Given the description of an element on the screen output the (x, y) to click on. 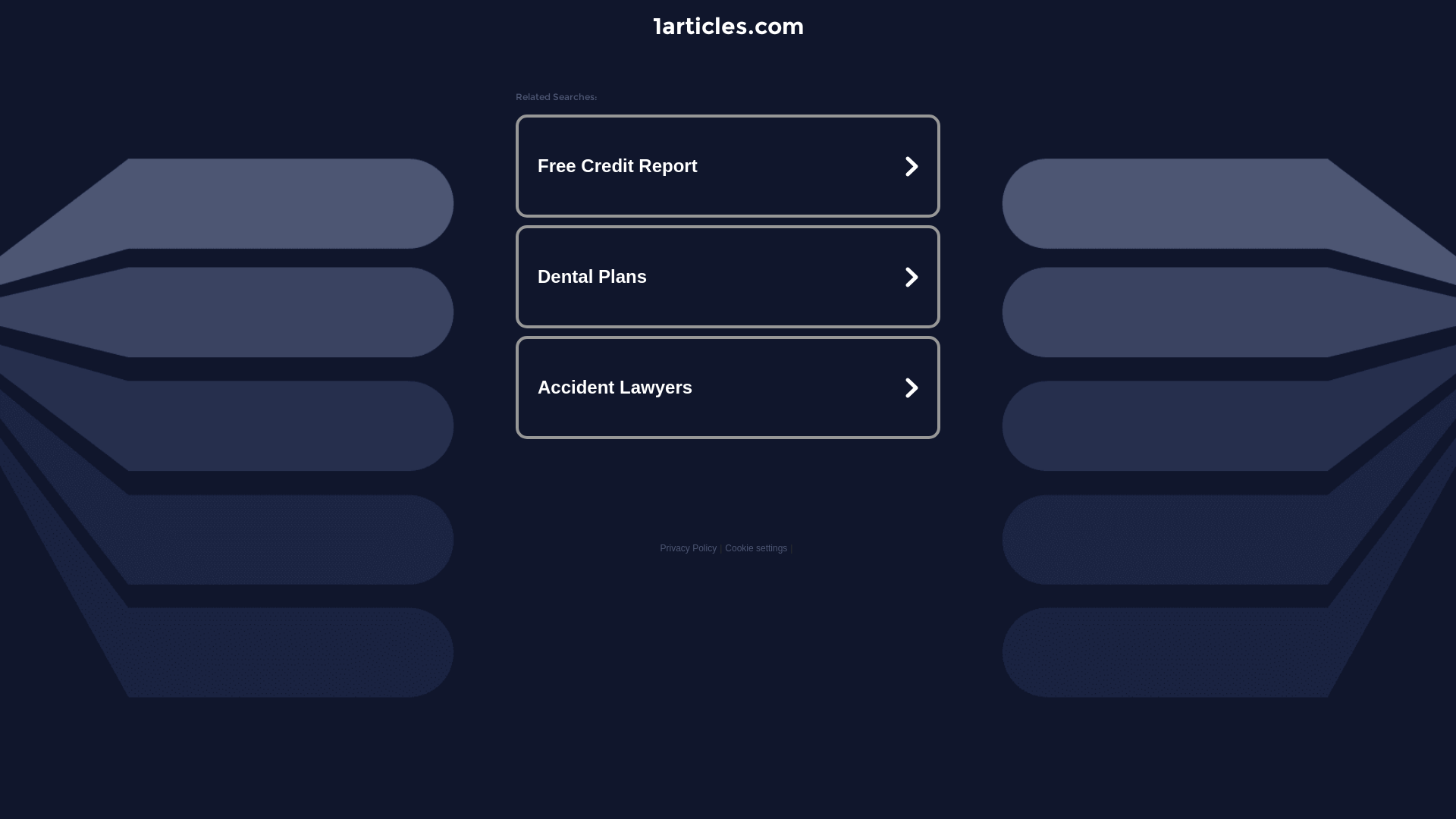
Cookie settings Element type: text (755, 547)
Free Credit Report Element type: text (727, 165)
Dental Plans Element type: text (727, 276)
Accident Lawyers Element type: text (727, 387)
1articles.com Element type: text (727, 26)
Privacy Policy Element type: text (687, 547)
